Given the description of an element on the screen output the (x, y) to click on. 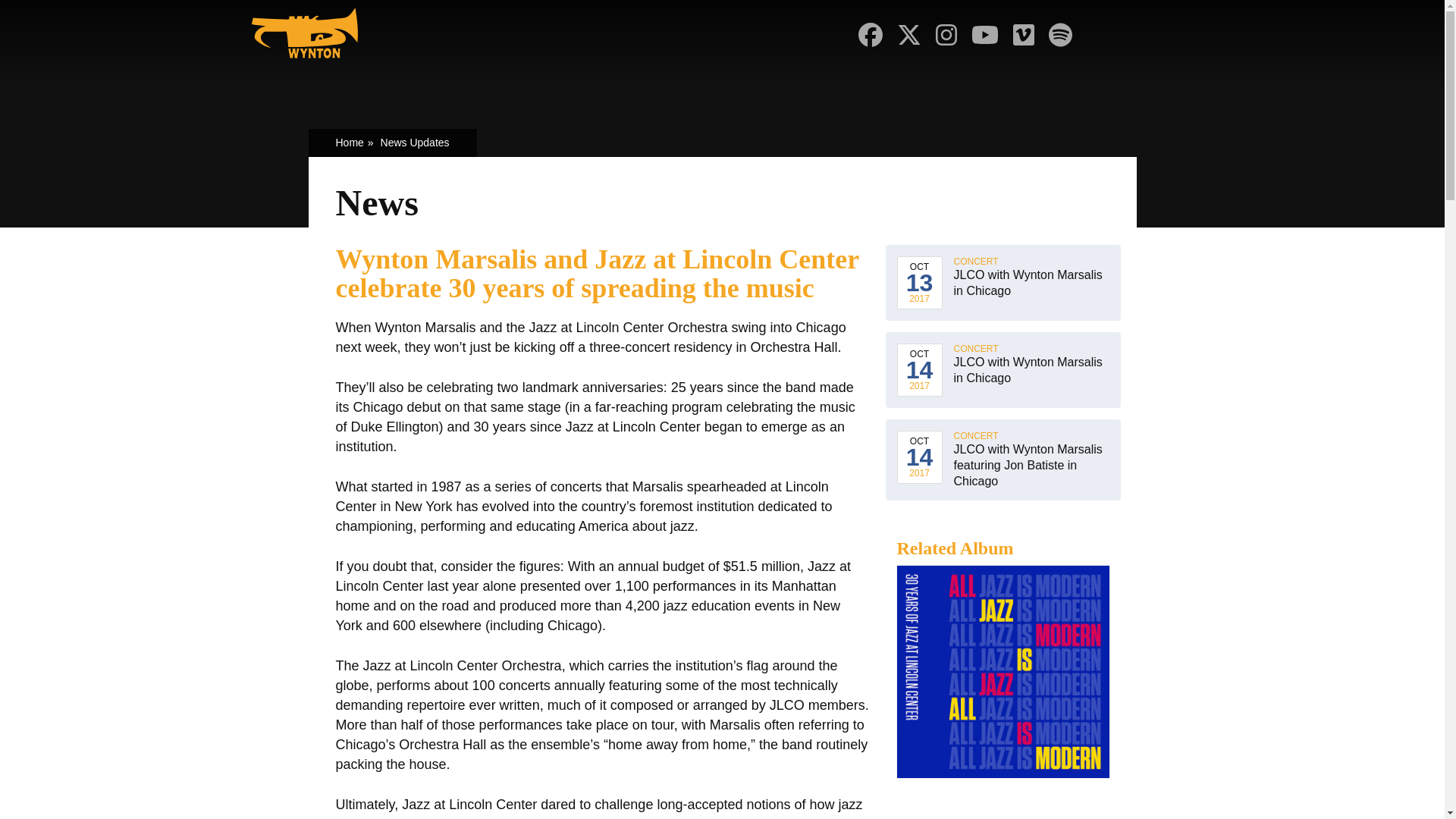
Vimeo (1023, 35)
YouTube (984, 34)
Spotify (1059, 34)
Instagram (945, 35)
Facebook (870, 34)
YouTube (985, 35)
Facebook (870, 35)
Spotify (1060, 35)
